Given the description of an element on the screen output the (x, y) to click on. 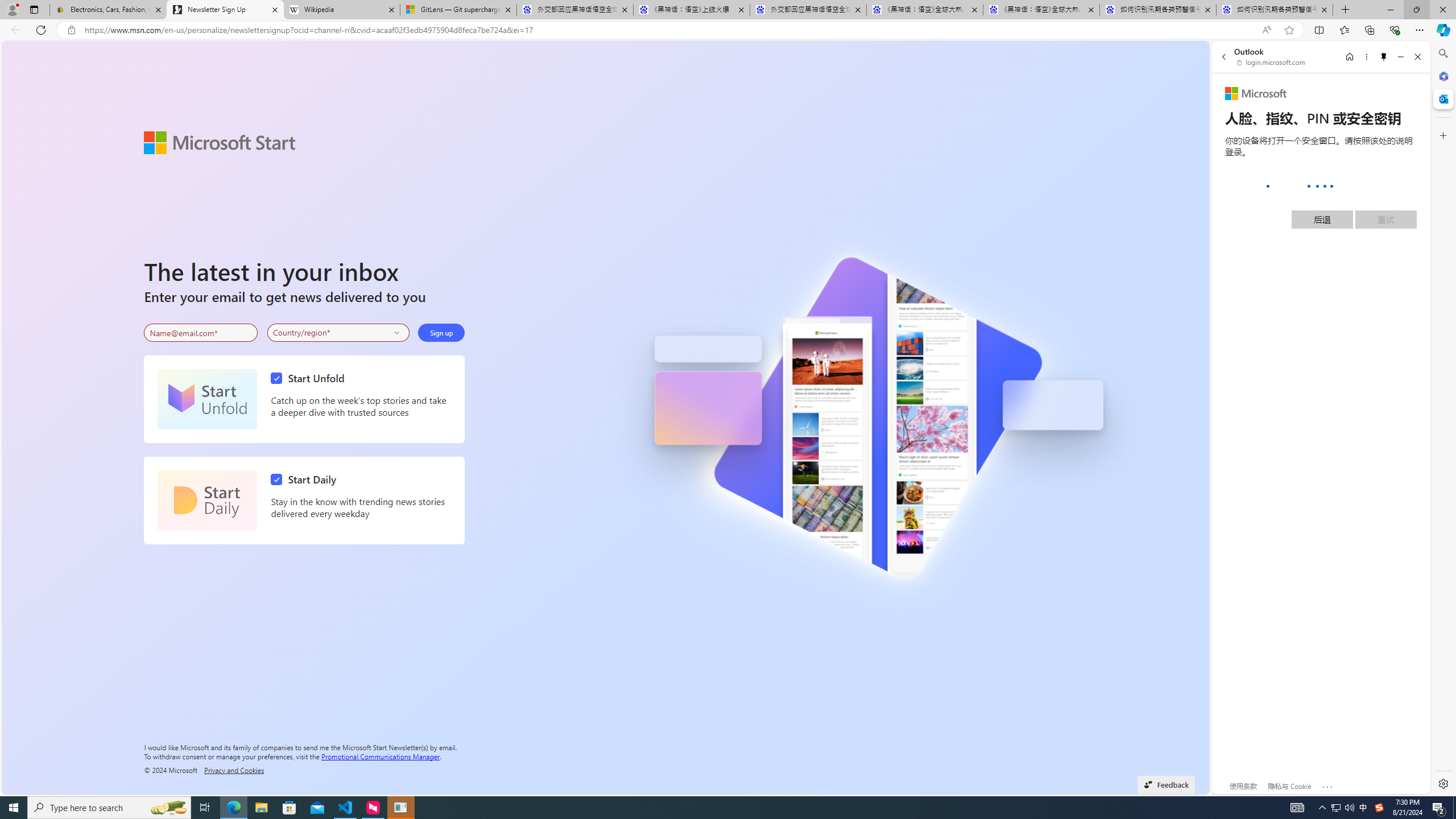
Start Daily (207, 500)
login.microsoft.com (1271, 61)
Newsletter Sign Up (224, 9)
Sign up (441, 332)
